Given the description of an element on the screen output the (x, y) to click on. 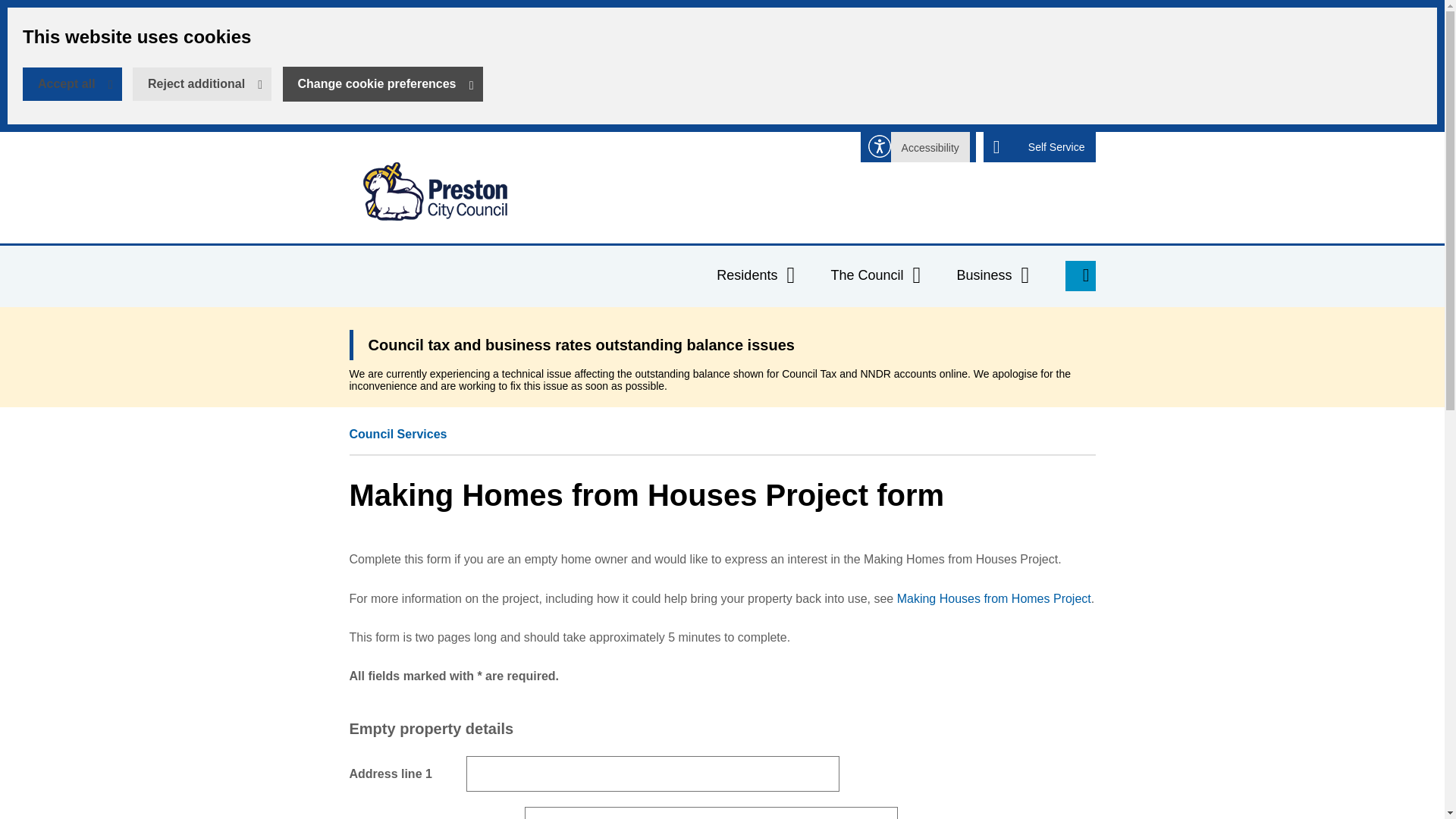
Accessibility (434, 191)
Reject additional (930, 146)
Skip to main content (201, 83)
Self Service (11, 11)
Accept all (1056, 146)
The Council (72, 83)
Change cookie preferences (877, 275)
Residents (382, 83)
Business (758, 275)
